Given the description of an element on the screen output the (x, y) to click on. 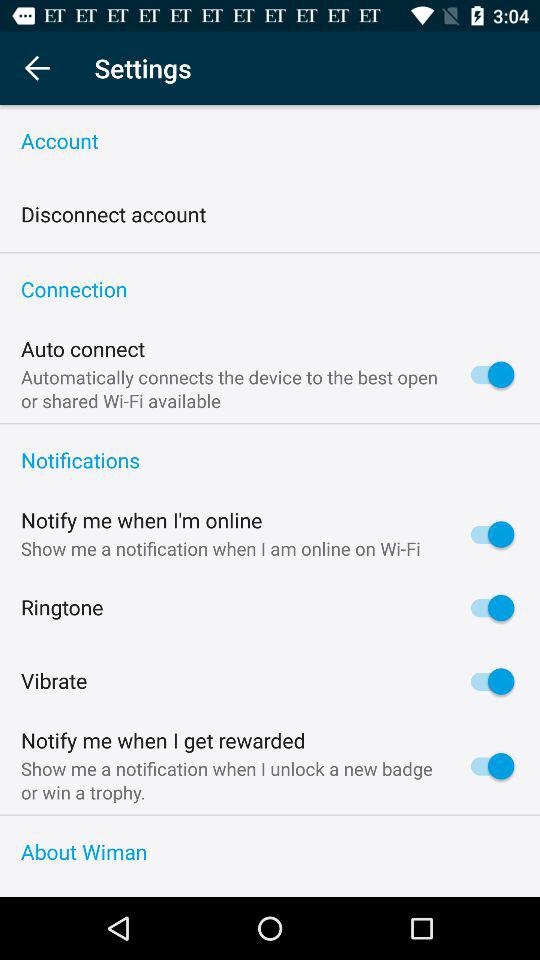
launch item above the notifications item (270, 423)
